Given the description of an element on the screen output the (x, y) to click on. 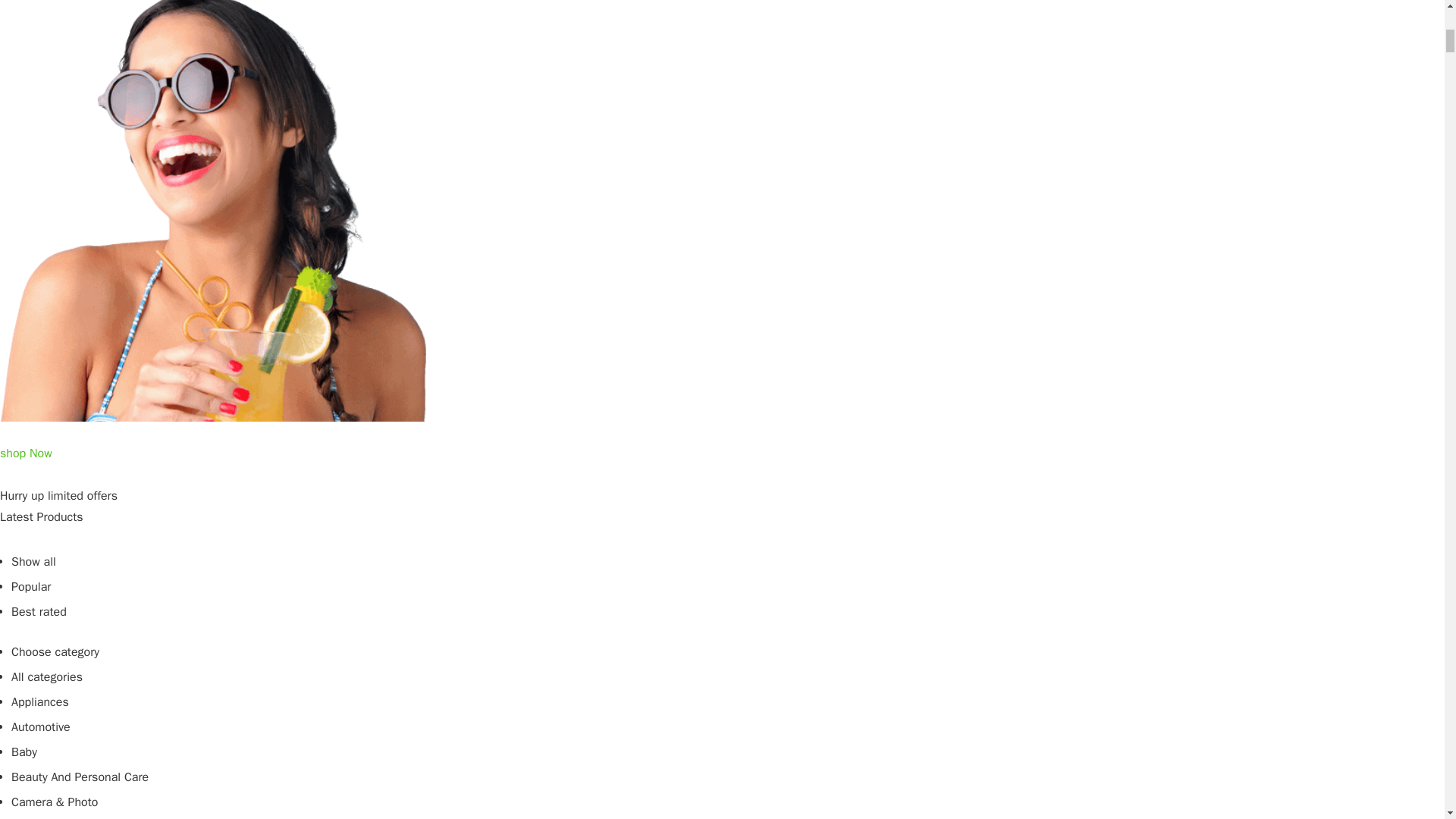
shop Now (26, 463)
